Given the description of an element on the screen output the (x, y) to click on. 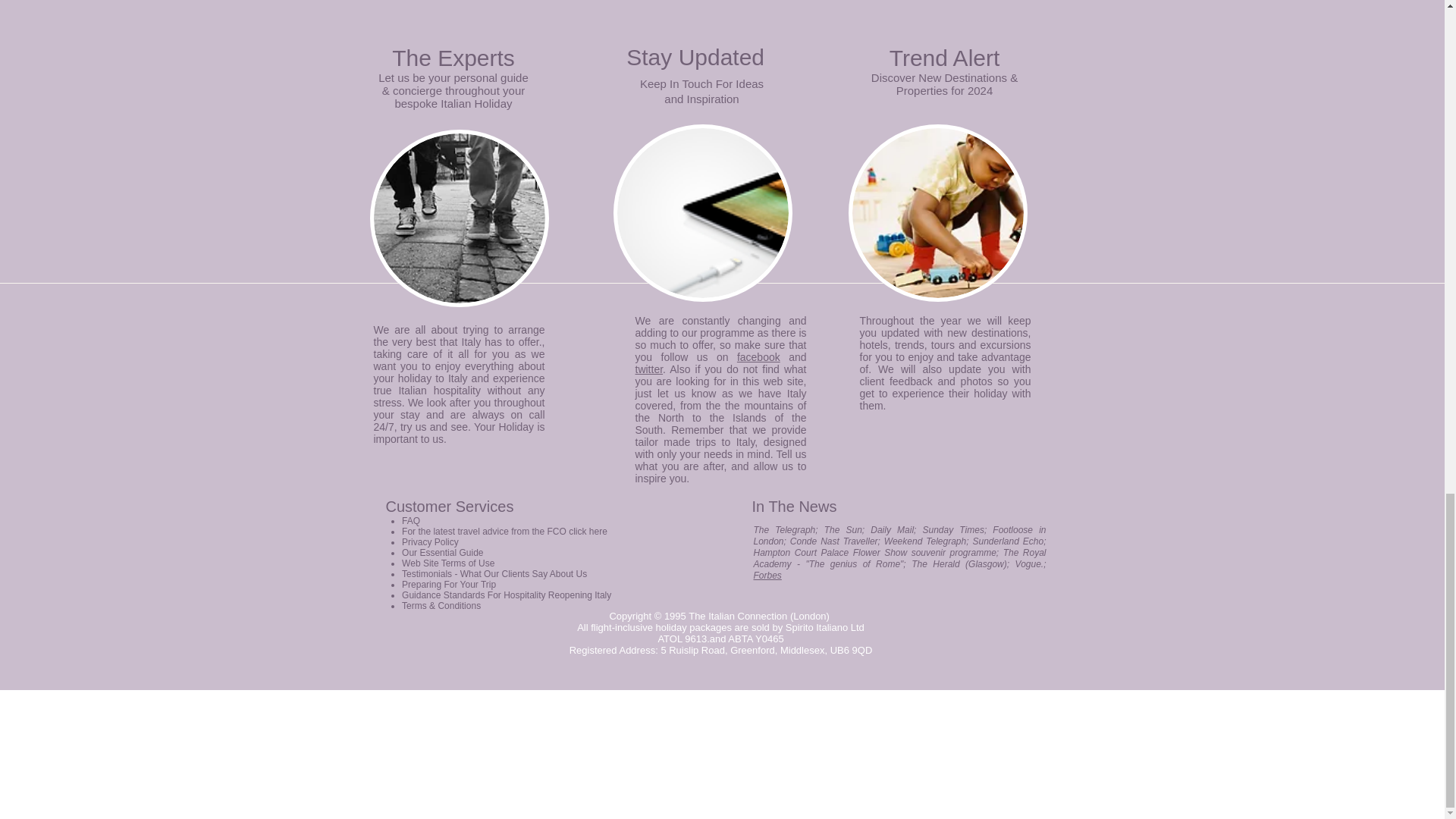
Guidance Standards For Hospitality Reopening Italy (506, 594)
Web Site Terms of Use (448, 562)
Testimonials - What Our Clients Say About Us (493, 573)
click here (588, 531)
facebook (758, 357)
FAQ (410, 520)
Privacy Policy (429, 542)
twitter (648, 369)
Our Essential Guide (442, 552)
Preparing For Your Trip (448, 584)
